Given the description of an element on the screen output the (x, y) to click on. 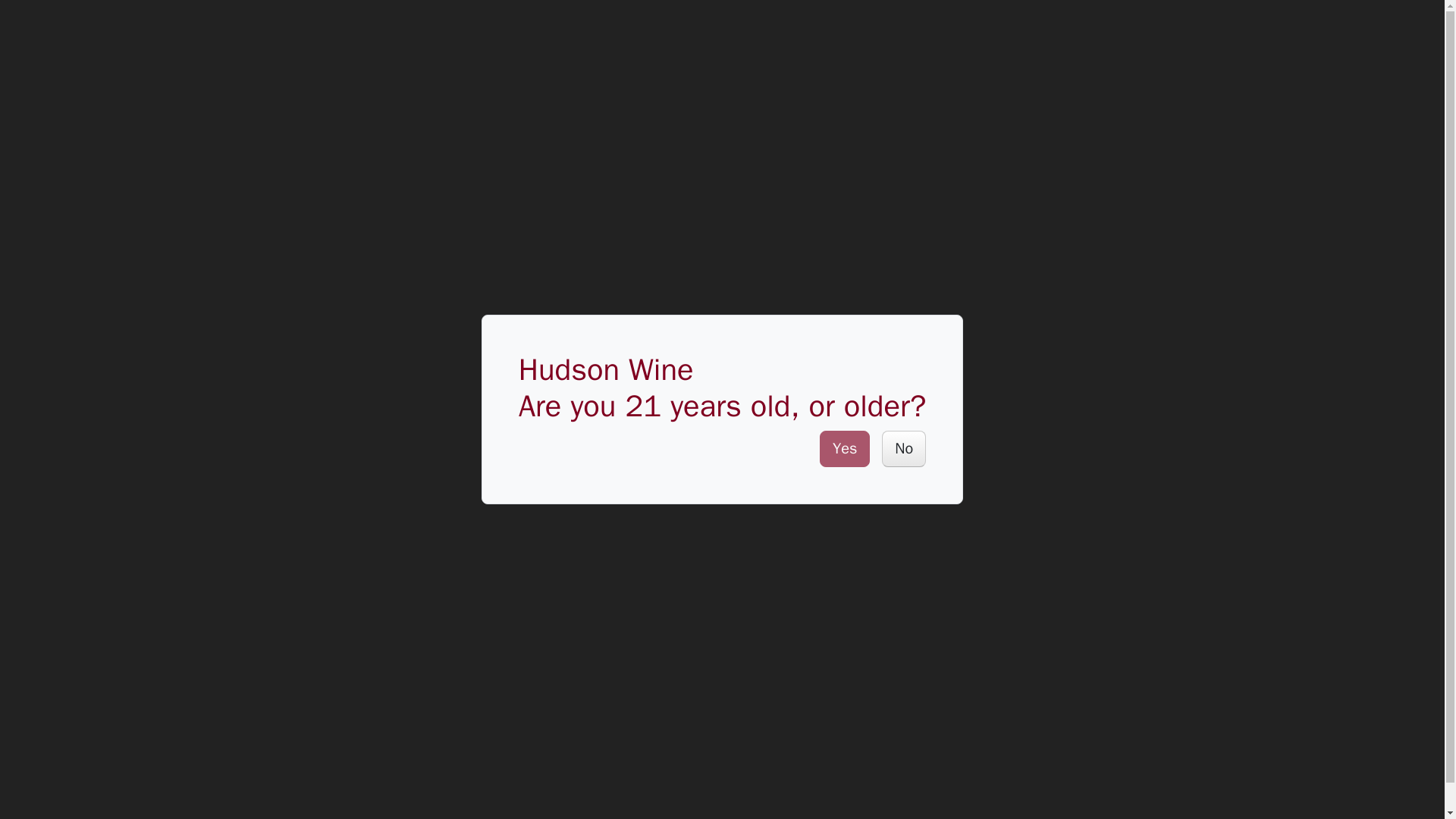
Wine (140, 27)
Hudson Wine (49, 27)
